Given the description of an element on the screen output the (x, y) to click on. 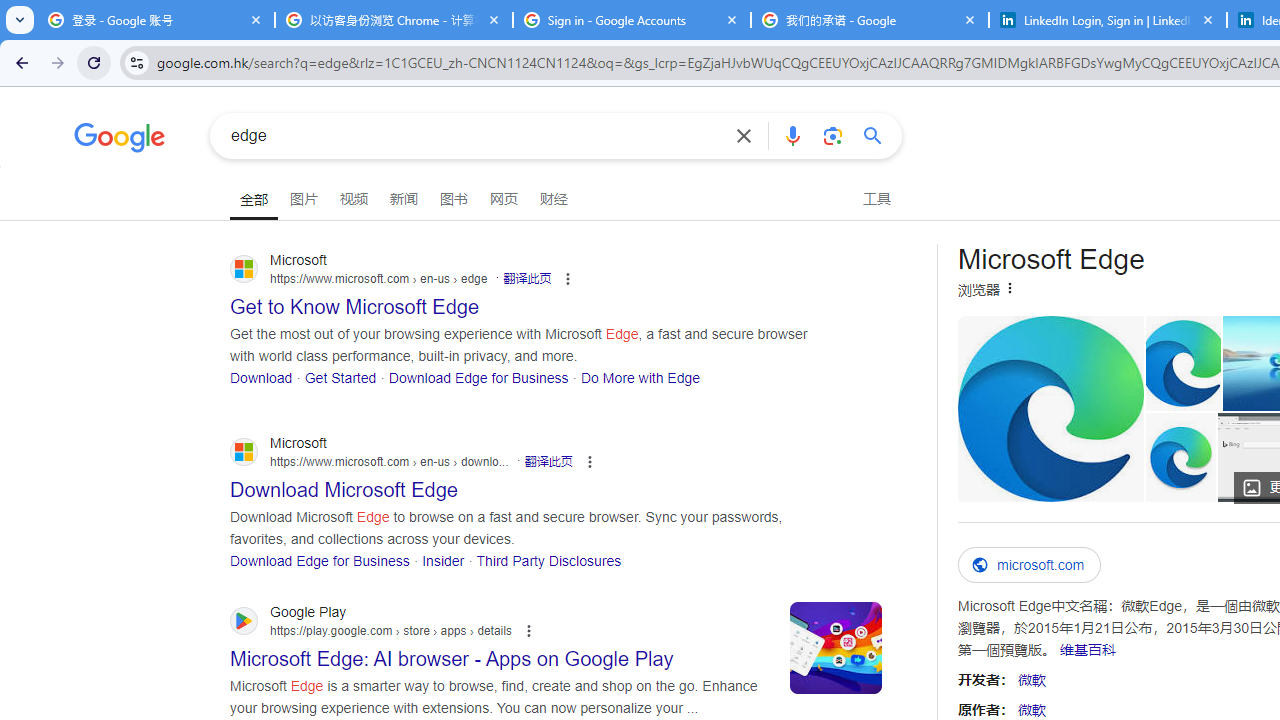
upload.wikimedia.org/wikipedia/commons/9/98/Micros... (1050, 408)
View site information (136, 62)
